Given the description of an element on the screen output the (x, y) to click on. 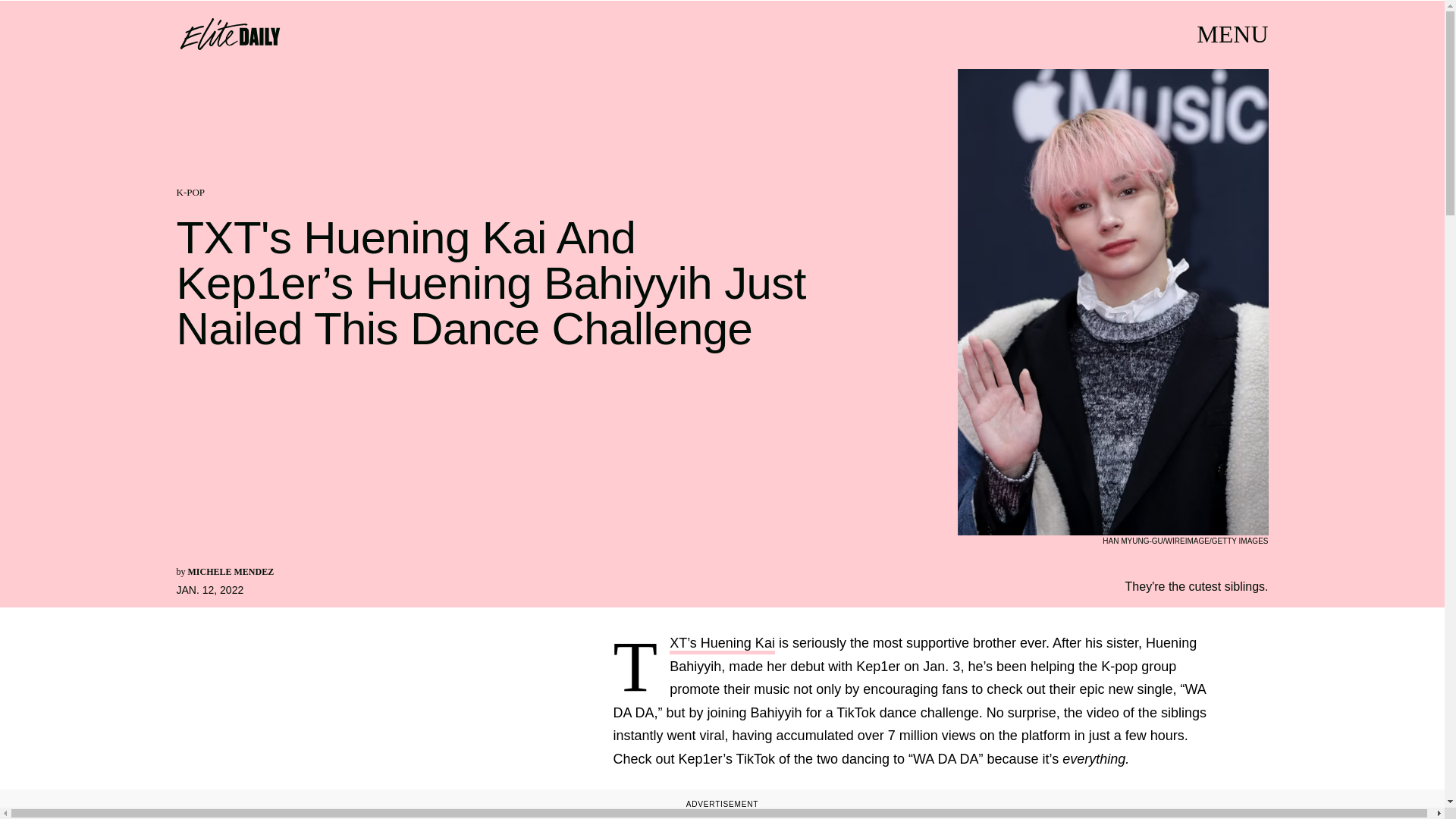
Elite Daily (229, 33)
MICHELE MENDEZ (231, 571)
